Given the description of an element on the screen output the (x, y) to click on. 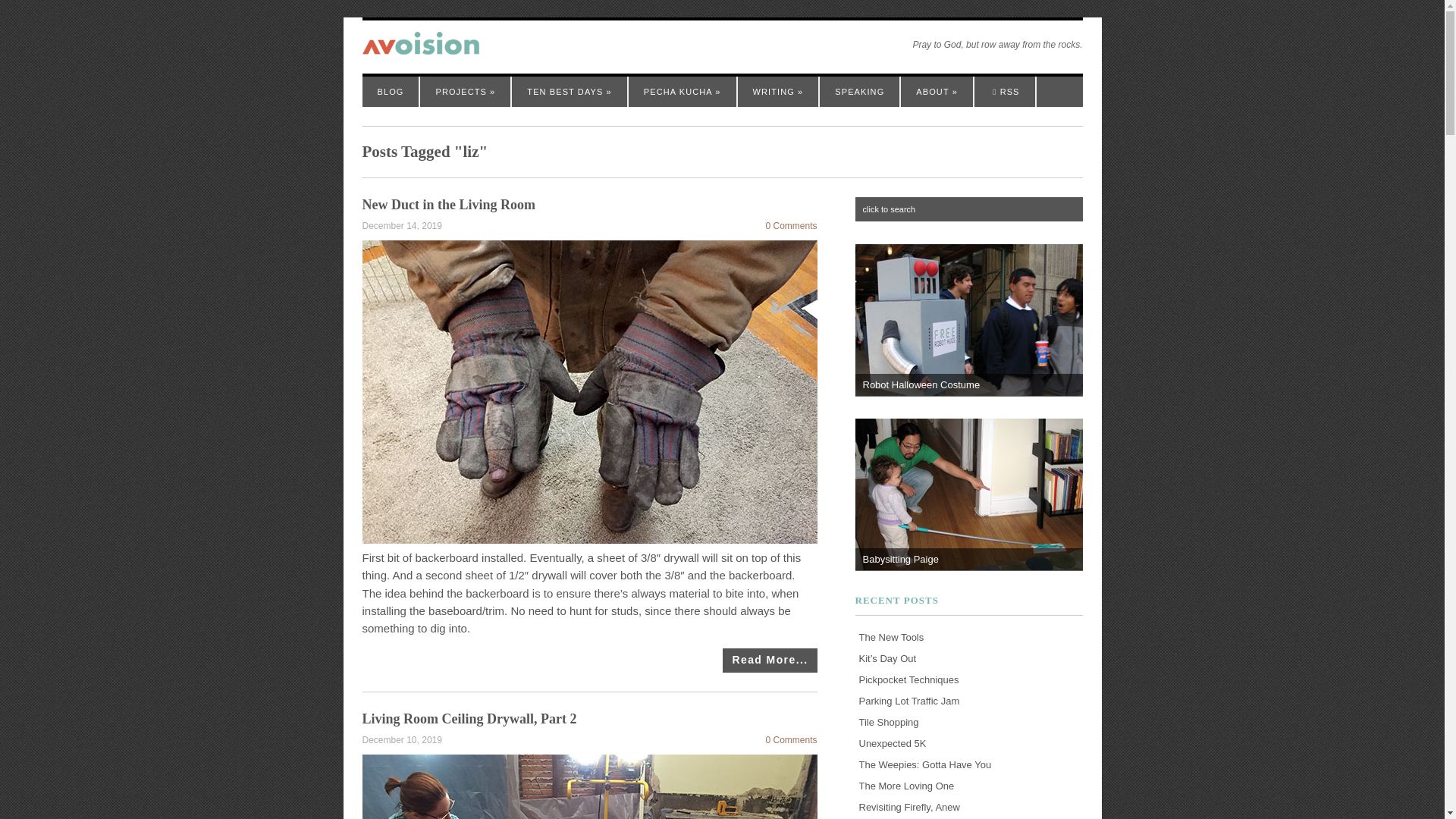
New Duct in the Living Room (769, 660)
click to search (969, 209)
New Duct in the Living Room (448, 204)
BLOG (390, 91)
Living Room Ceiling Drywall, Part 2 (469, 718)
